Given the description of an element on the screen output the (x, y) to click on. 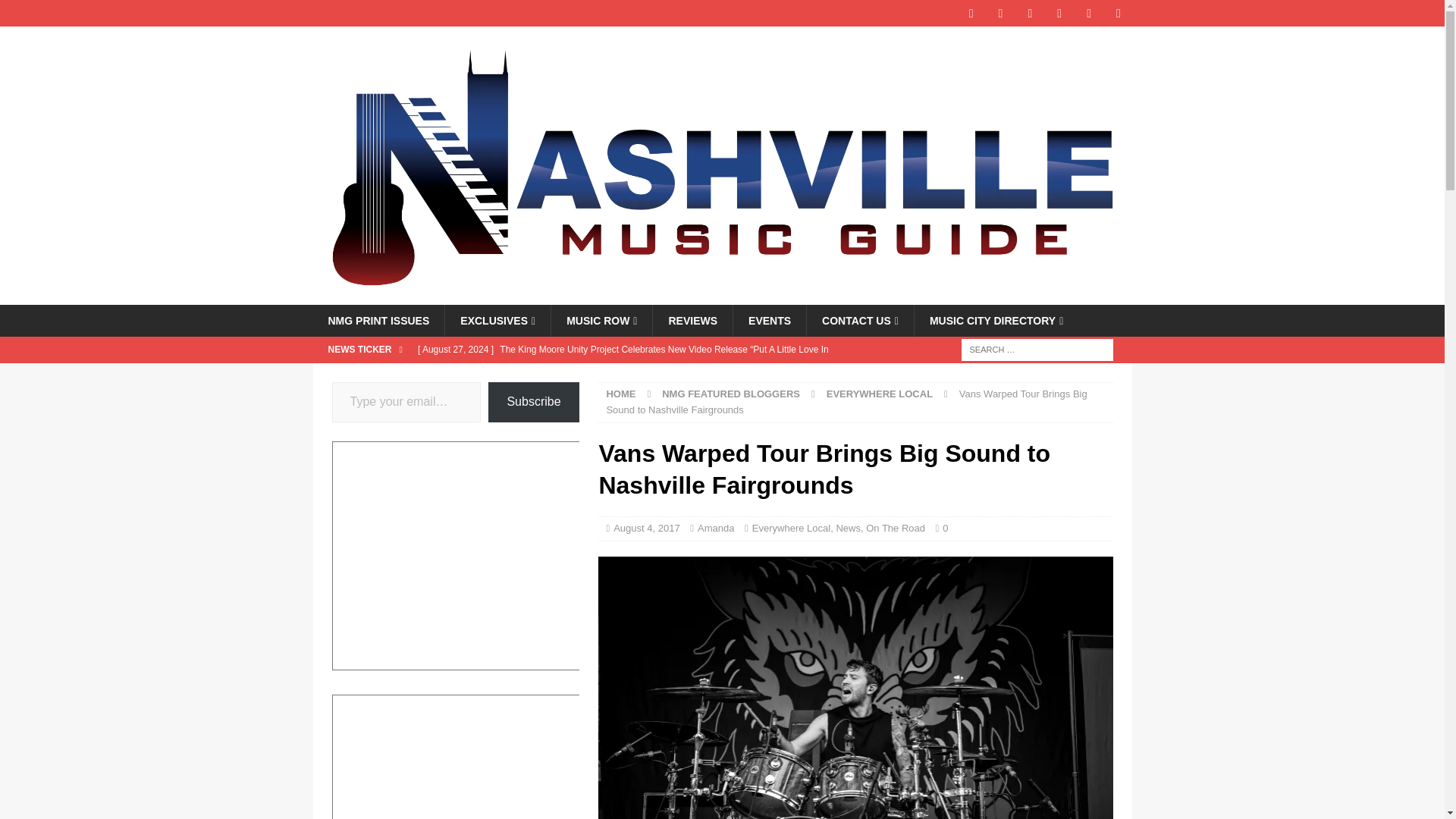
CONTACT US (860, 320)
MUSIC CITY DIRECTORY (996, 320)
EVENTS (769, 320)
REVIEWS (692, 320)
NMG PRINT ISSUES (378, 320)
MUSIC ROW (601, 320)
EXCLUSIVES (497, 320)
